Given the description of an element on the screen output the (x, y) to click on. 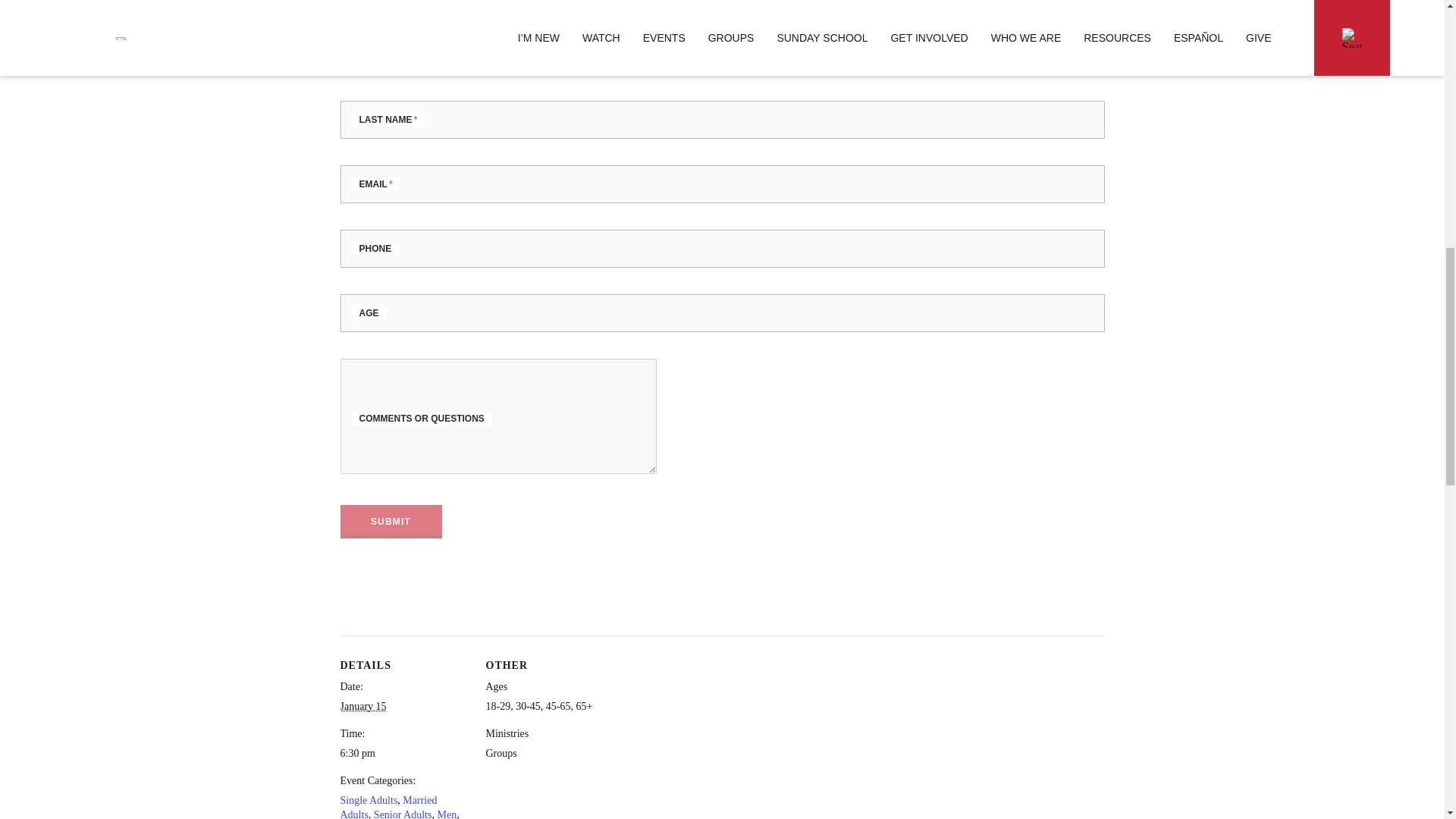
2024-01-15 (362, 706)
2024-01-15 (403, 753)
Submit (390, 521)
